Given the description of an element on the screen output the (x, y) to click on. 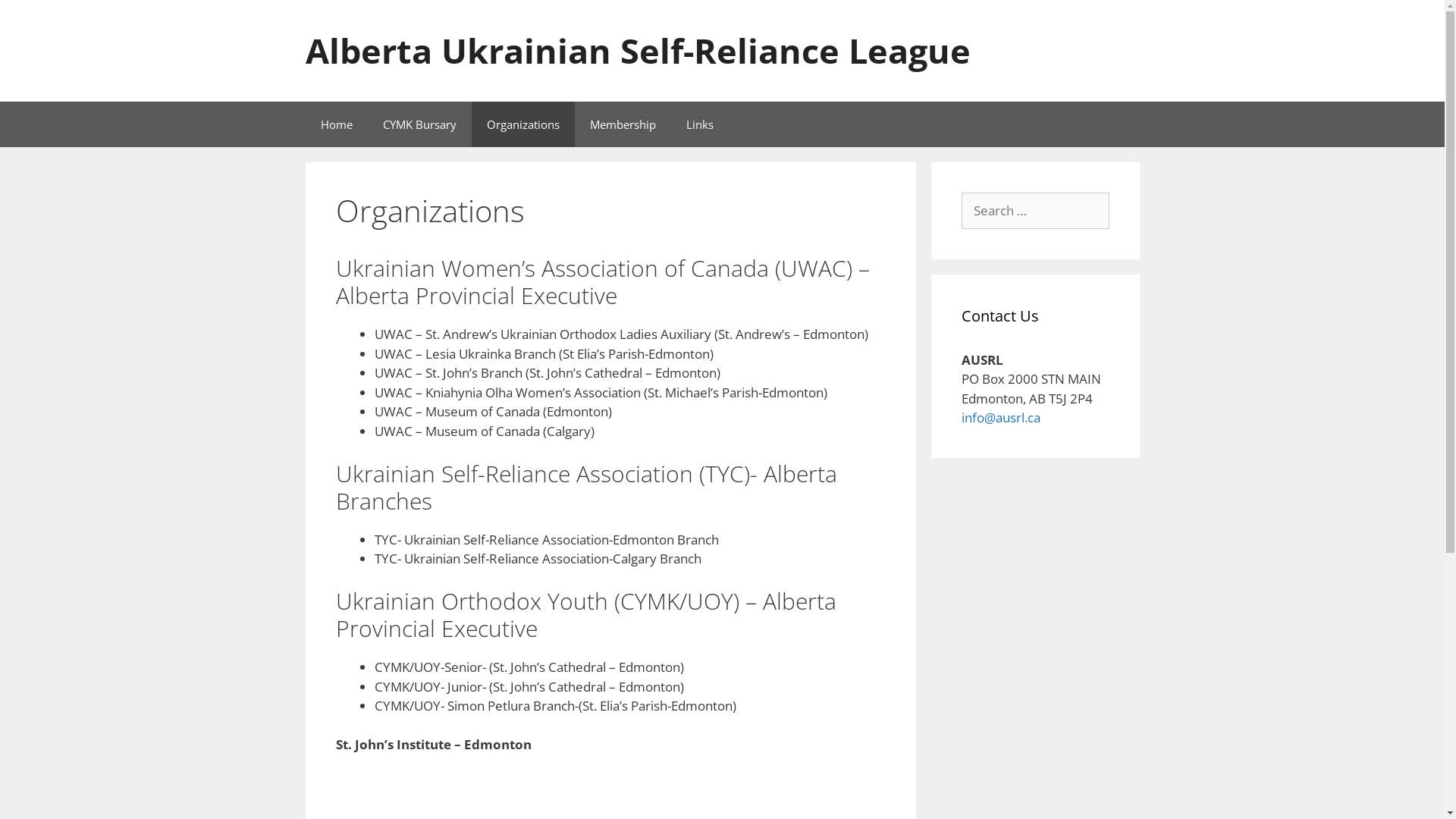
info@ausrl.ca Element type: text (1000, 417)
Alberta Ukrainian Self-Reliance League Element type: text (636, 50)
CYMK Bursary Element type: text (418, 124)
Links Element type: text (699, 124)
Search for: Element type: hover (1035, 210)
Search Element type: text (36, 18)
Membership Element type: text (622, 124)
Organizations Element type: text (522, 124)
Home Element type: text (335, 124)
